Given the description of an element on the screen output the (x, y) to click on. 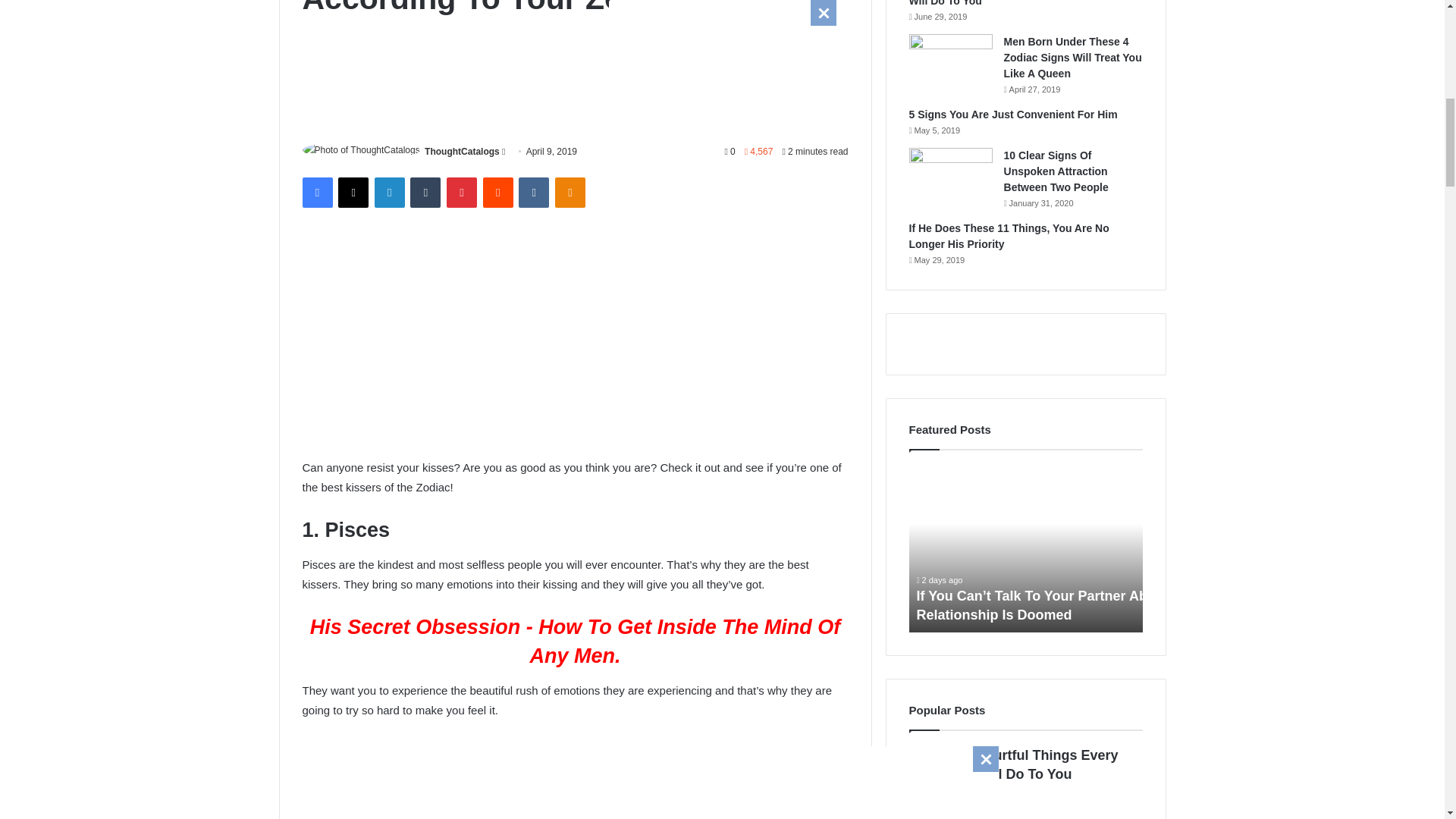
Pinterest (461, 192)
LinkedIn (389, 192)
Tumblr (425, 192)
VKontakte (533, 192)
Pinterest (461, 192)
X (352, 192)
ThoughtCatalogs (462, 151)
LinkedIn (389, 192)
Odnoklassniki (569, 192)
